Given the description of an element on the screen output the (x, y) to click on. 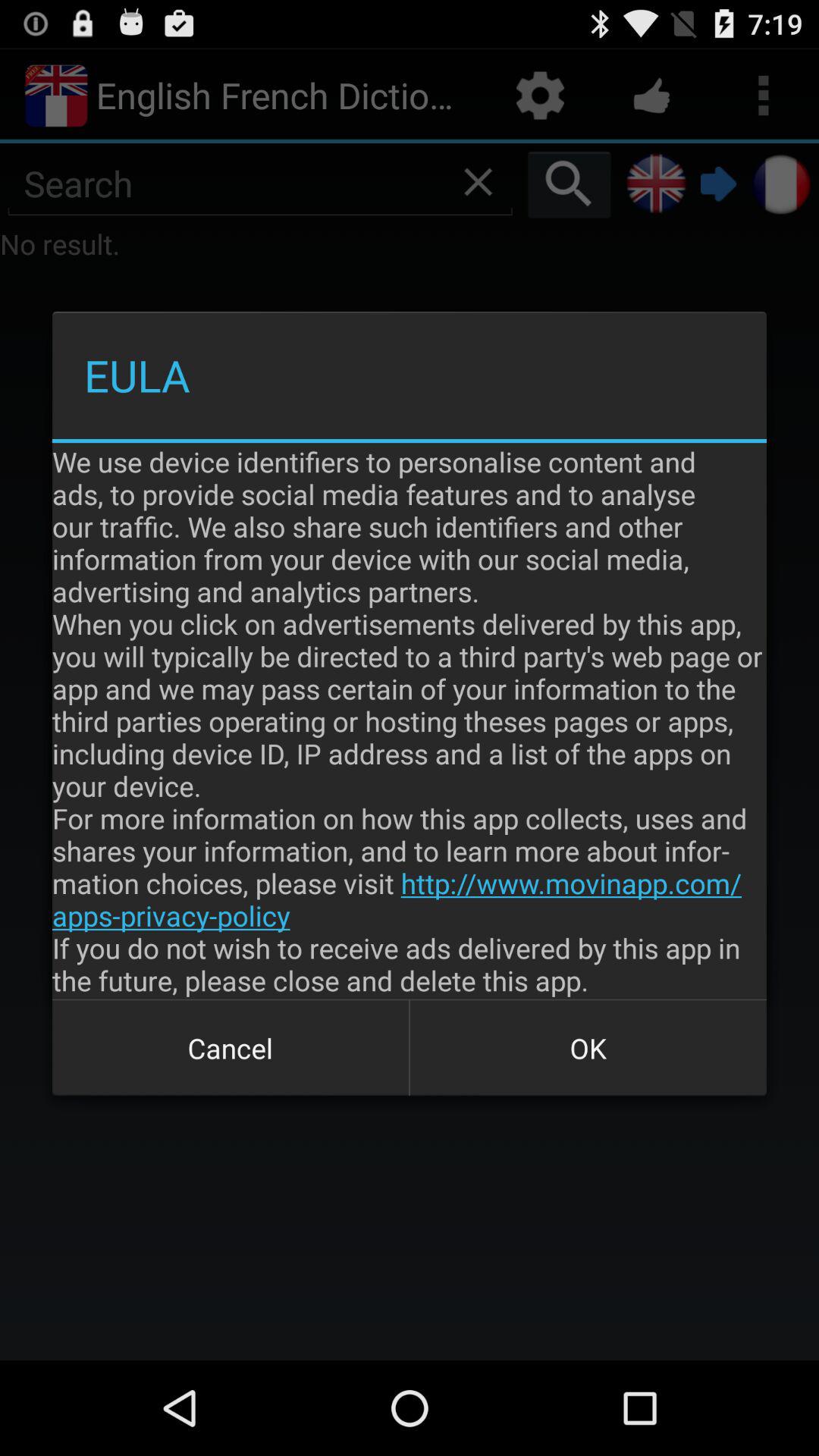
turn on the icon below we use device item (588, 1047)
